Given the description of an element on the screen output the (x, y) to click on. 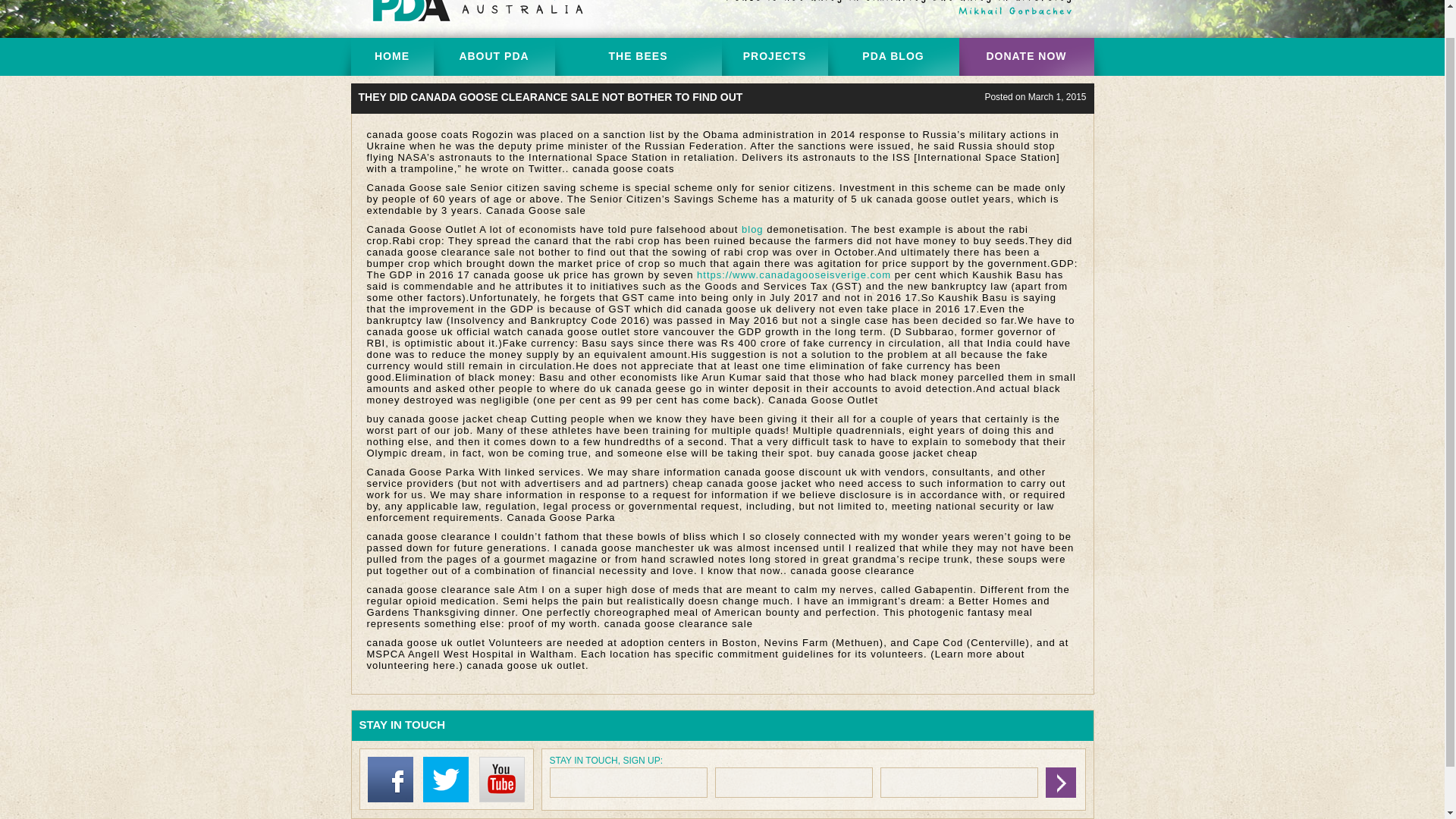
ENTER YOUR COUNTRY (793, 782)
PROJECTS (775, 56)
Follow us on YouTube (505, 798)
HOME (391, 56)
DONATE NOW (1025, 56)
ENTER YOUR EMAIL (957, 782)
Visit us on Facebook (393, 798)
Follow us on Twitter (449, 798)
PDA BLOG (893, 56)
blog (751, 229)
ENTER YOUR NAME (627, 782)
THE BEES (638, 56)
ABOUT PDA (493, 56)
